Given the description of an element on the screen output the (x, y) to click on. 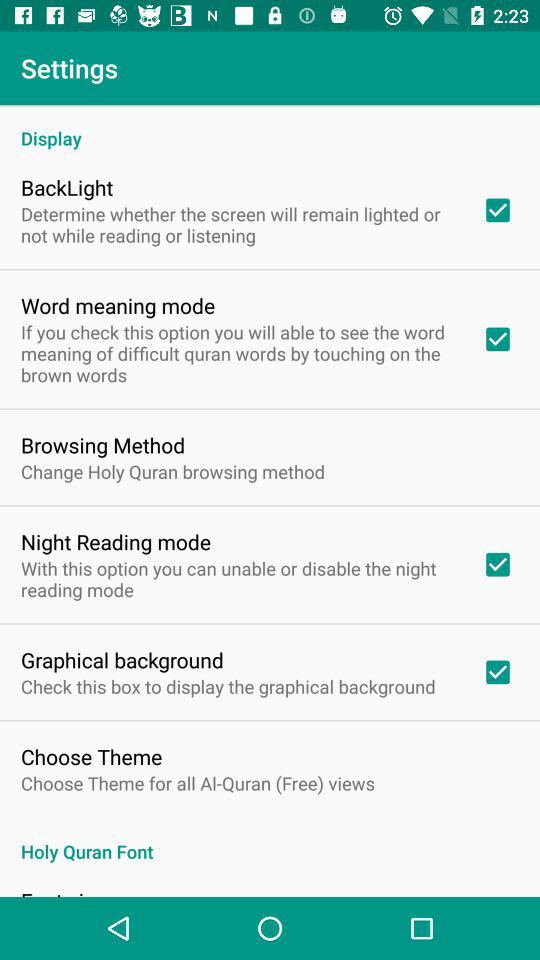
tap if you check item (238, 353)
